Given the description of an element on the screen output the (x, y) to click on. 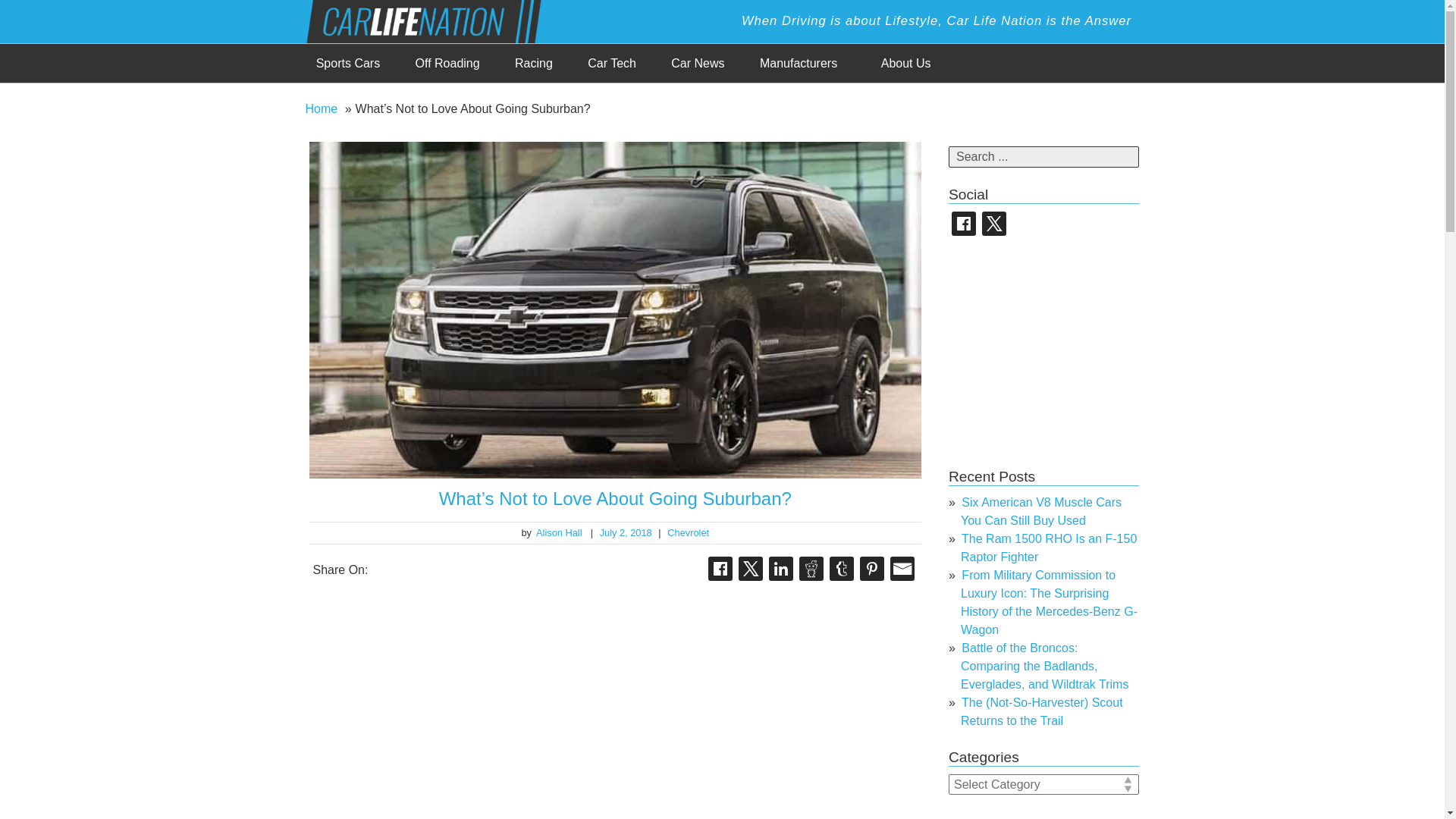
Share On Twitter (750, 568)
Share On Pinterest (871, 568)
Share On Facebook (719, 568)
Share To Email (901, 568)
Sports Cars (347, 63)
Share On Reddit (811, 568)
Car Life Nation Facebook (963, 223)
Share On Tumblr (841, 568)
Car Life Nation Twitter (993, 223)
Advertisement (1062, 351)
Car Life Nation (435, 20)
Car Tech (611, 63)
Share On LinkedIn (780, 568)
Car News (697, 63)
Advertisement (614, 702)
